Given the description of an element on the screen output the (x, y) to click on. 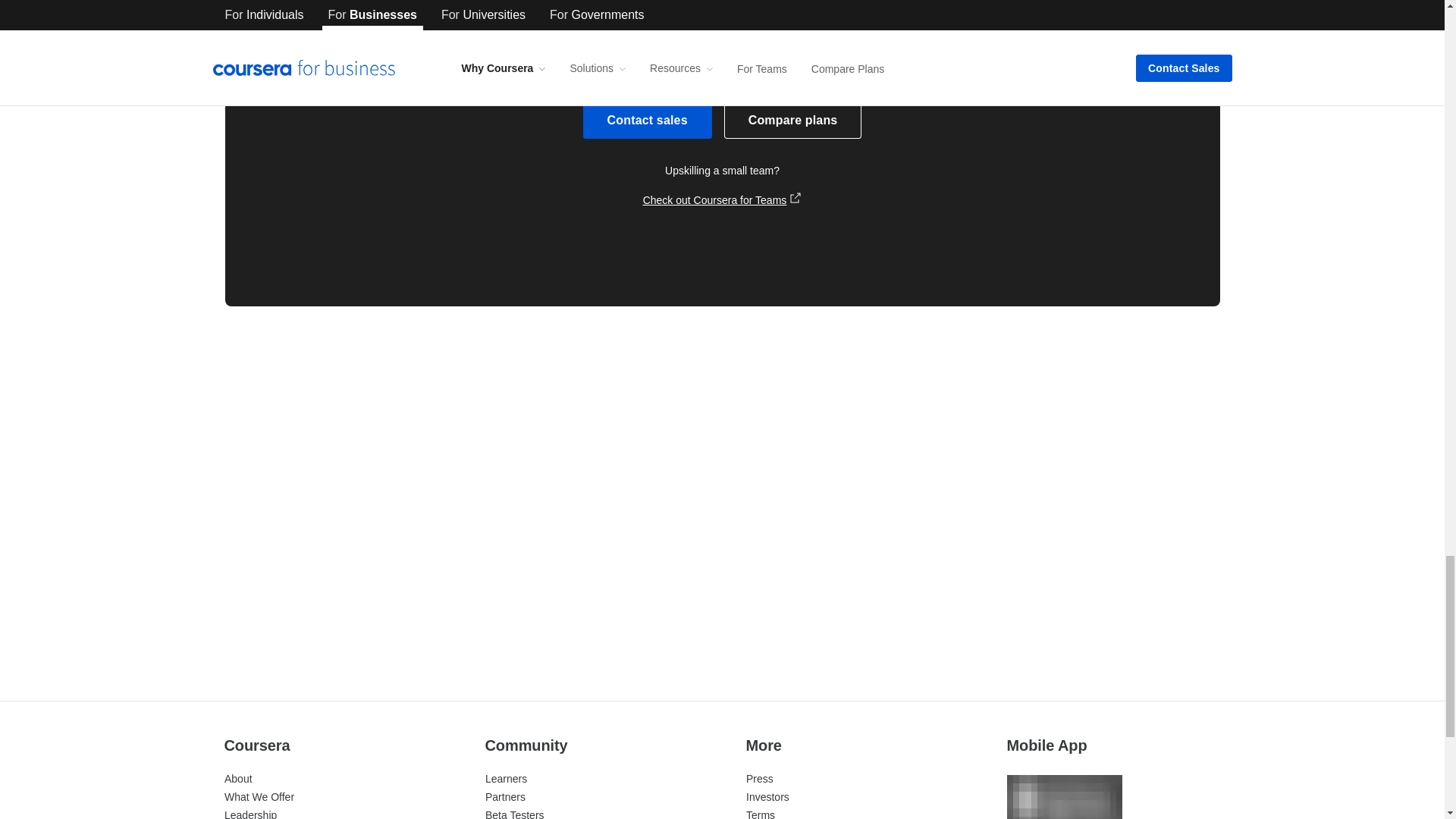
Contact sales (647, 120)
Watch now (961, 594)
Compare plans (792, 120)
Get report (623, 594)
Get report (287, 594)
Leadership (250, 814)
About (237, 778)
What We Offer (259, 797)
Check out Coursera for Teams (722, 199)
